Given the description of an element on the screen output the (x, y) to click on. 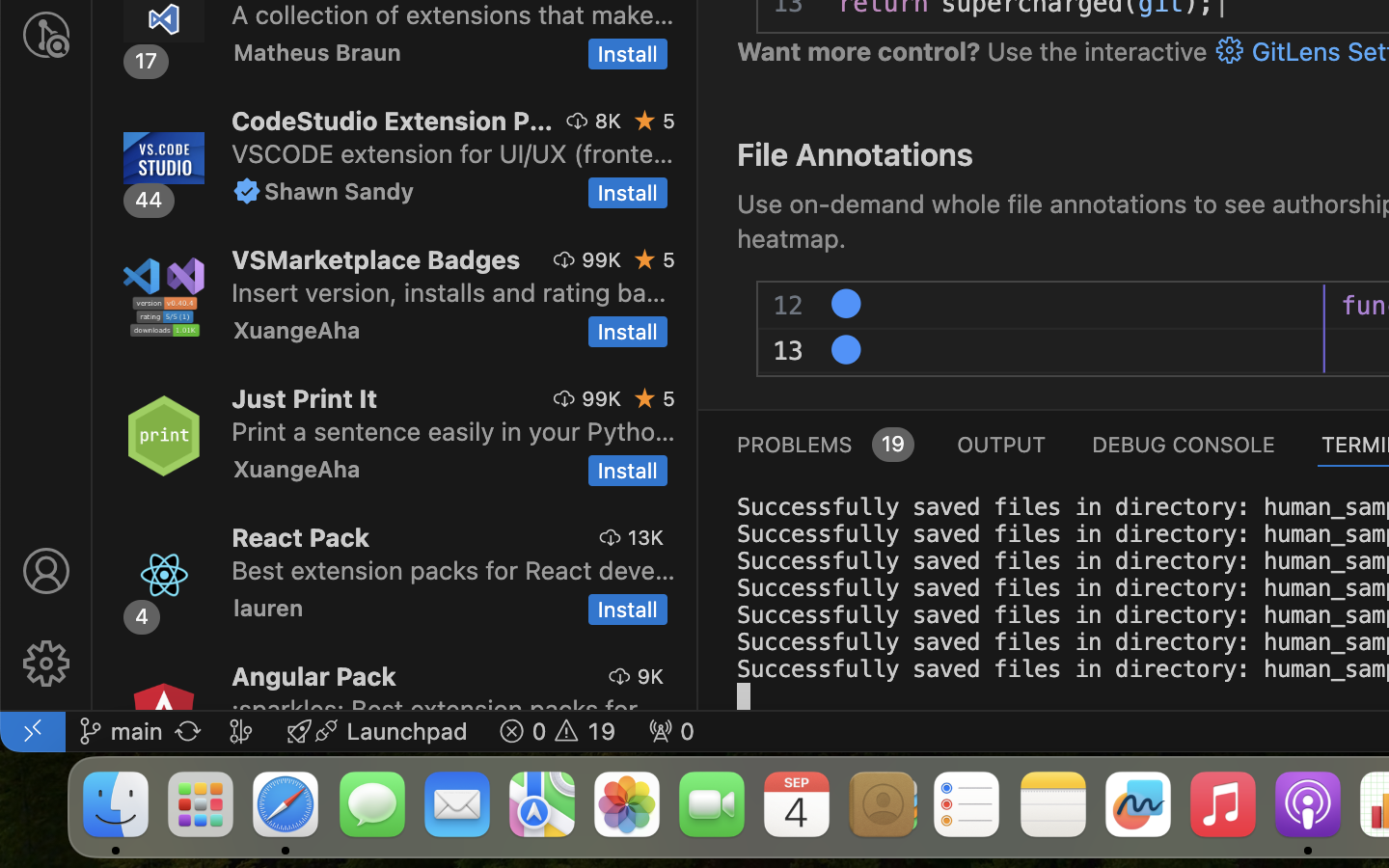
EA Element type: AXStaticText (846, 304)
 Element type: AXStaticText (46, 570)
13 Element type: AXStaticText (788, 351)
Just Print It Element type: AXStaticText (304, 397)
 Element type: AXStaticText (246, 190)
